Given the description of an element on the screen output the (x, y) to click on. 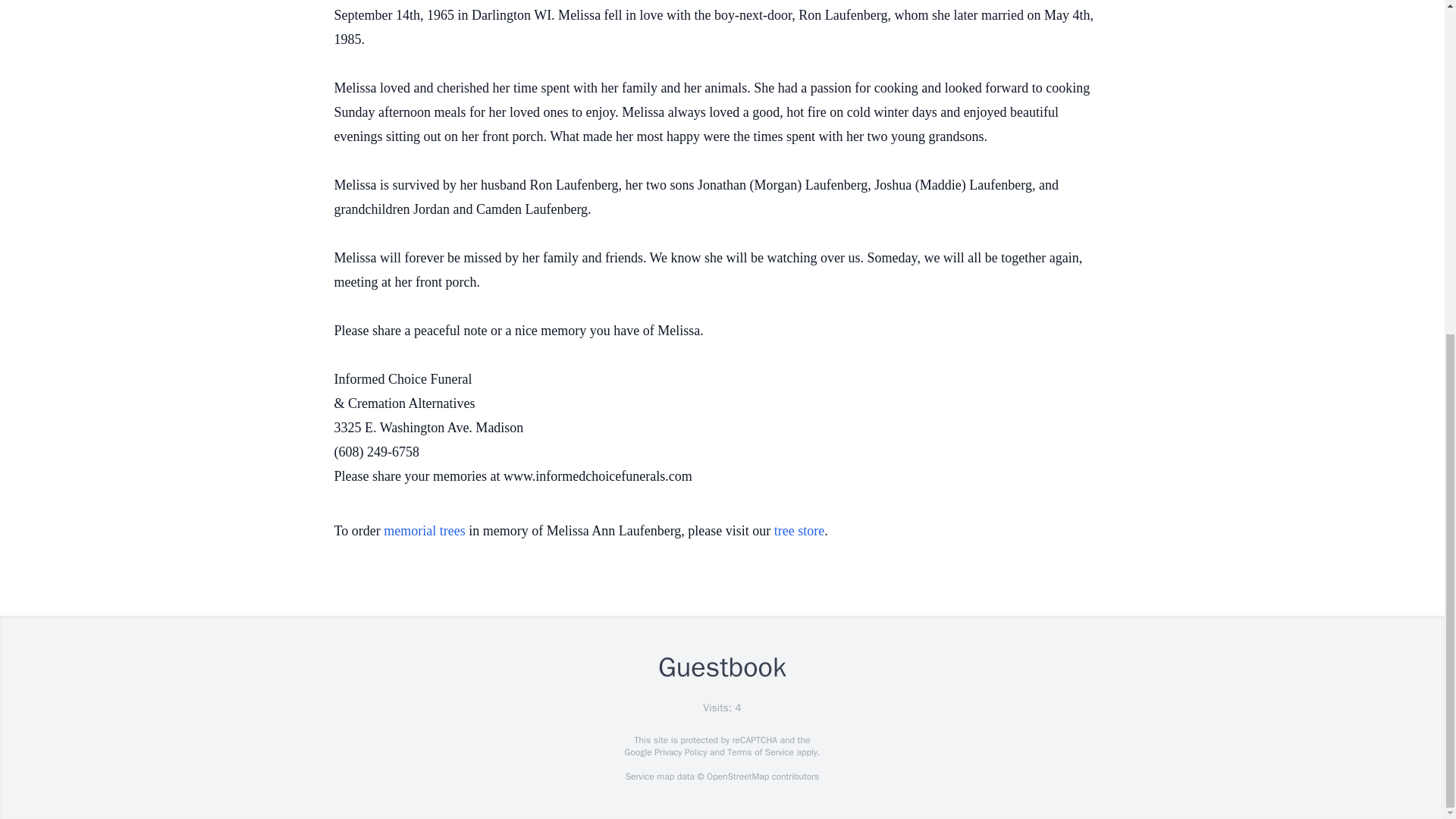
OpenStreetMap (737, 776)
memorial trees (424, 530)
Privacy Policy (679, 752)
Terms of Service (759, 752)
tree store (799, 530)
